Given the description of an element on the screen output the (x, y) to click on. 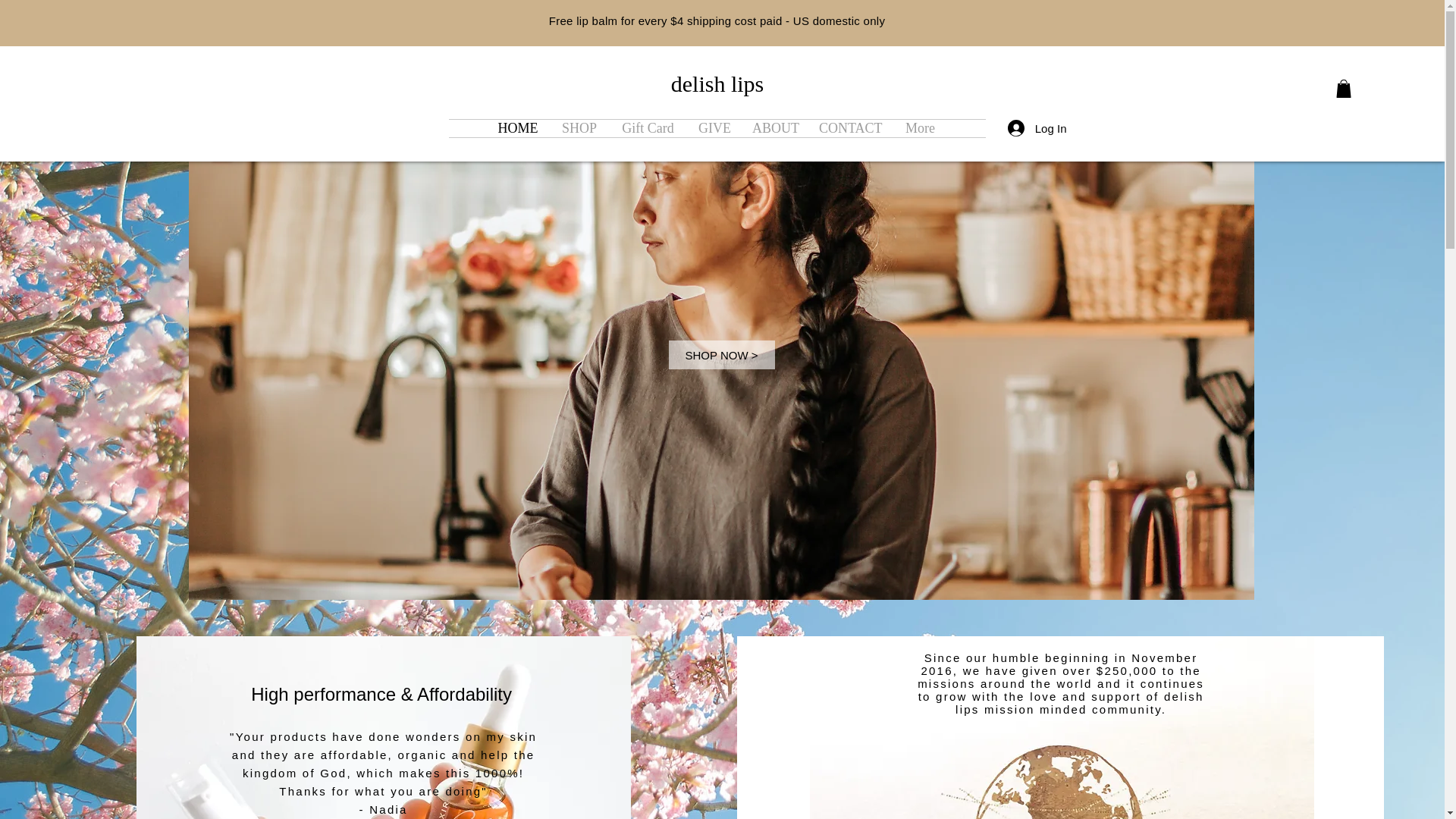
ABOUT (774, 128)
CONTACT (850, 128)
Log In (1037, 127)
SHOP (579, 128)
GIVE (714, 128)
Gift Card (647, 128)
delish lips (717, 83)
HOME (518, 128)
